Given the description of an element on the screen output the (x, y) to click on. 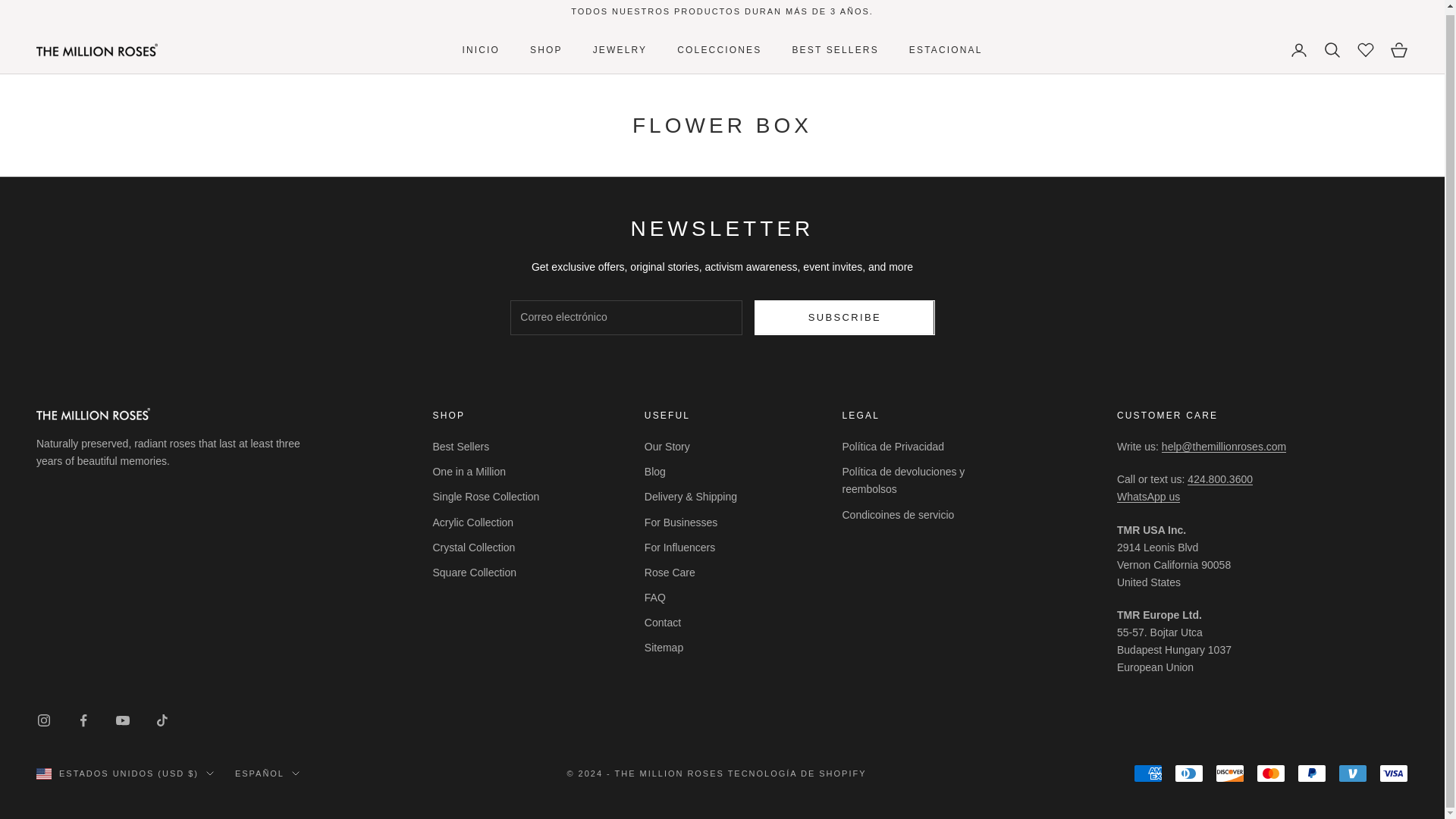
The Million Roses (96, 49)
tel:424.800.3600 (1220, 479)
JEWELRY (619, 49)
INICIO (480, 49)
